Given the description of an element on the screen output the (x, y) to click on. 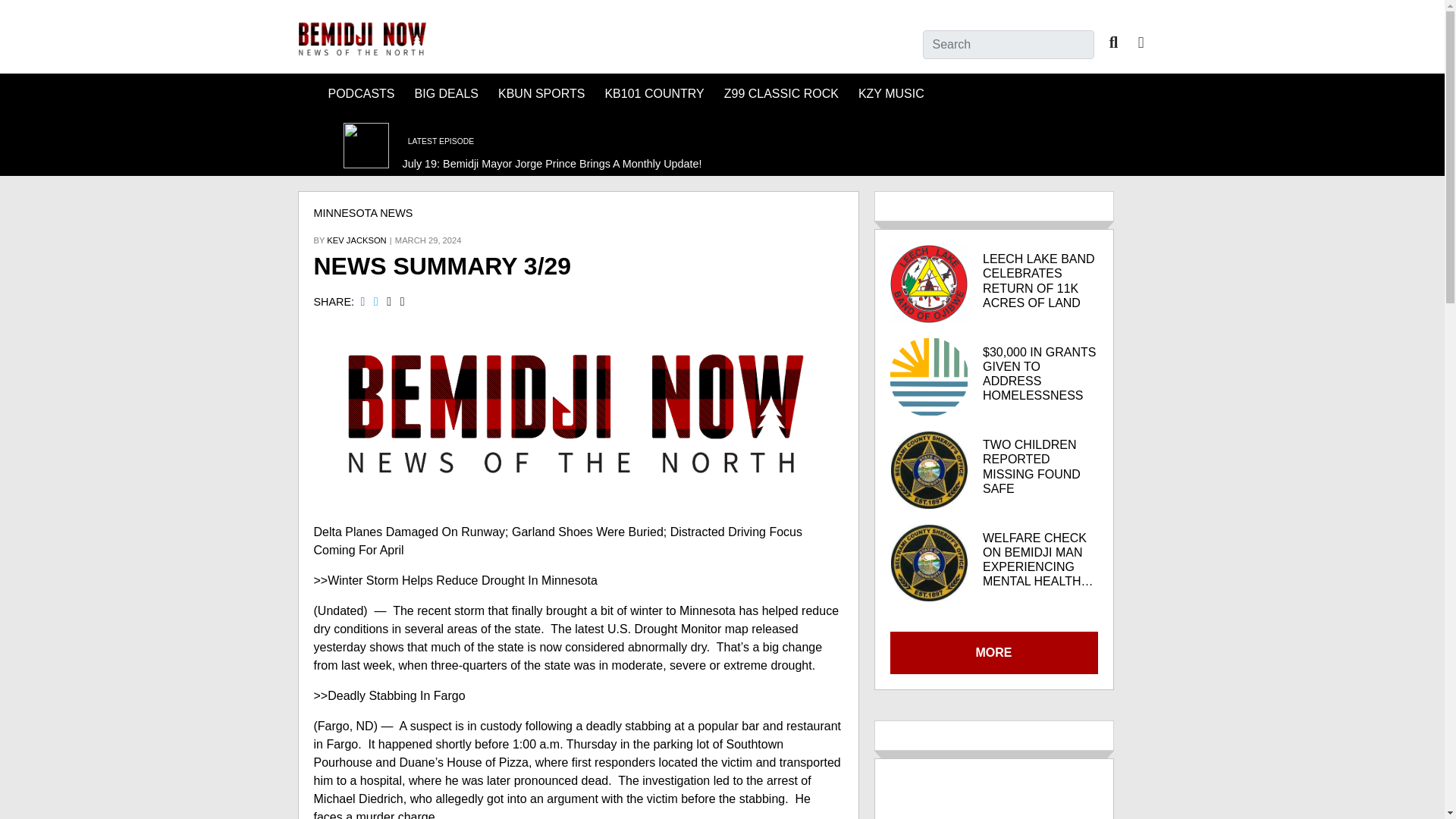
KBUN Sports (541, 93)
Launch player in new window... (361, 144)
PODCASTS (360, 93)
TWO CHILDREN REPORTED MISSING FOUND SAFE (1039, 466)
KBUN SPORTS (541, 93)
BIG DEALS (446, 93)
KZY MUSIC (890, 93)
Facebook (1140, 42)
Launch player in new window... (575, 146)
Share on Facebook (367, 301)
Launch player in new window... (312, 144)
KB101 Country (654, 93)
Z99 Classic Rock (780, 93)
